Given the description of an element on the screen output the (x, y) to click on. 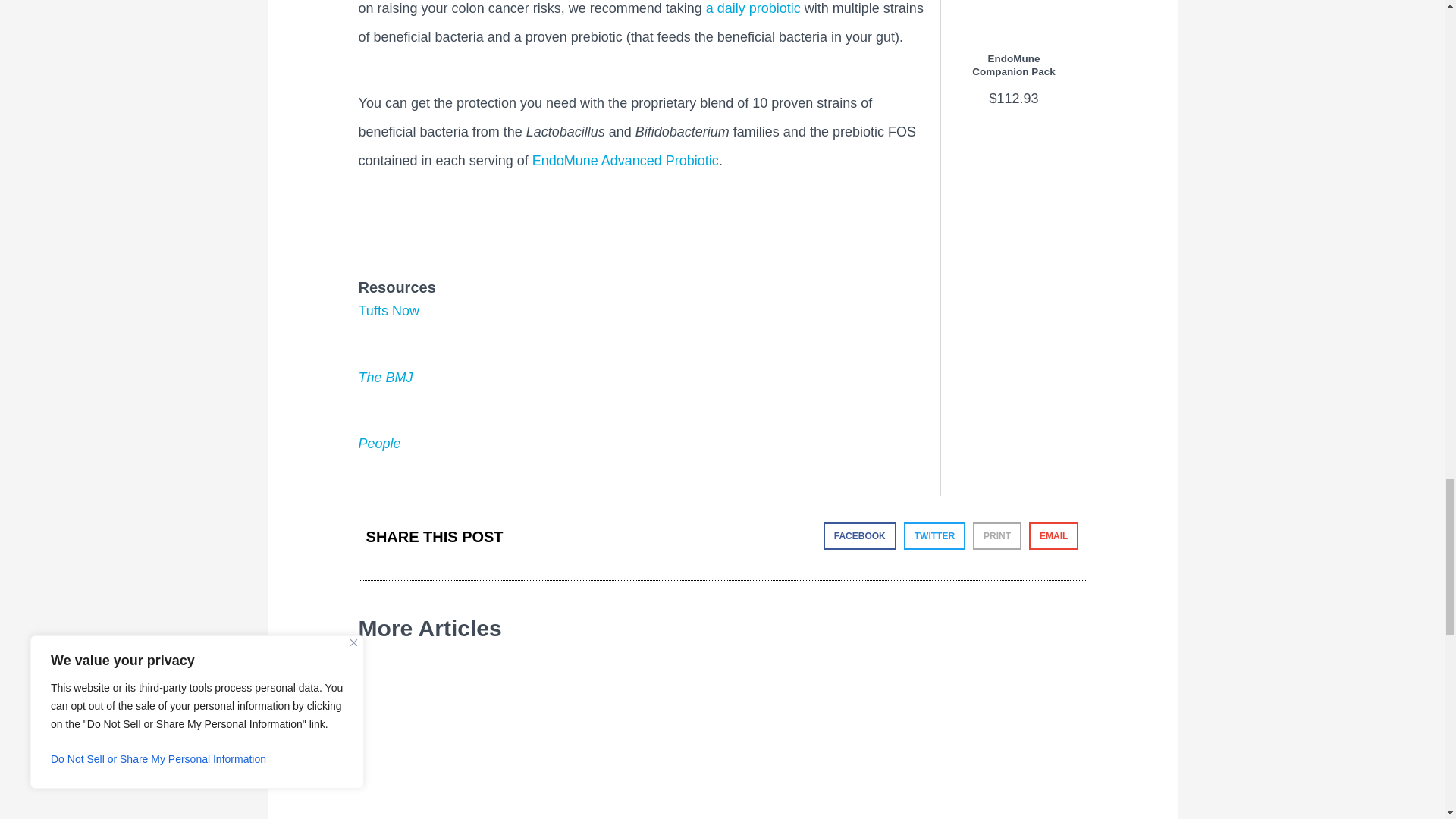
A Probiotic Solution For Long COVID (536, 748)
